Given the description of an element on the screen output the (x, y) to click on. 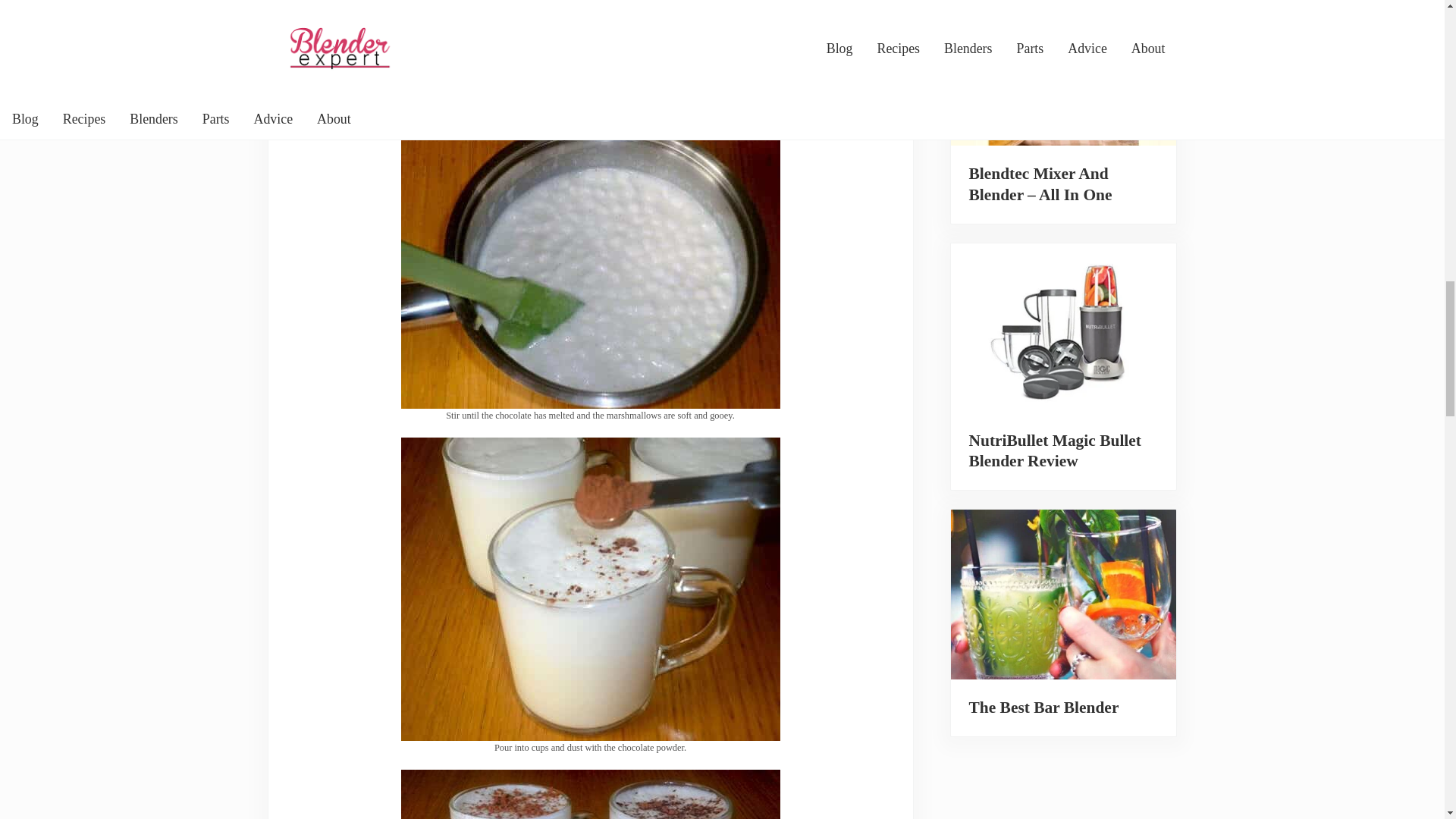
Pour into cups and dust with the chocolate powder. (589, 447)
Pour into cups and dust with the chocolate powder. (589, 589)
Marshmallow Hot Chocolate Milk (589, 794)
